Given the description of an element on the screen output the (x, y) to click on. 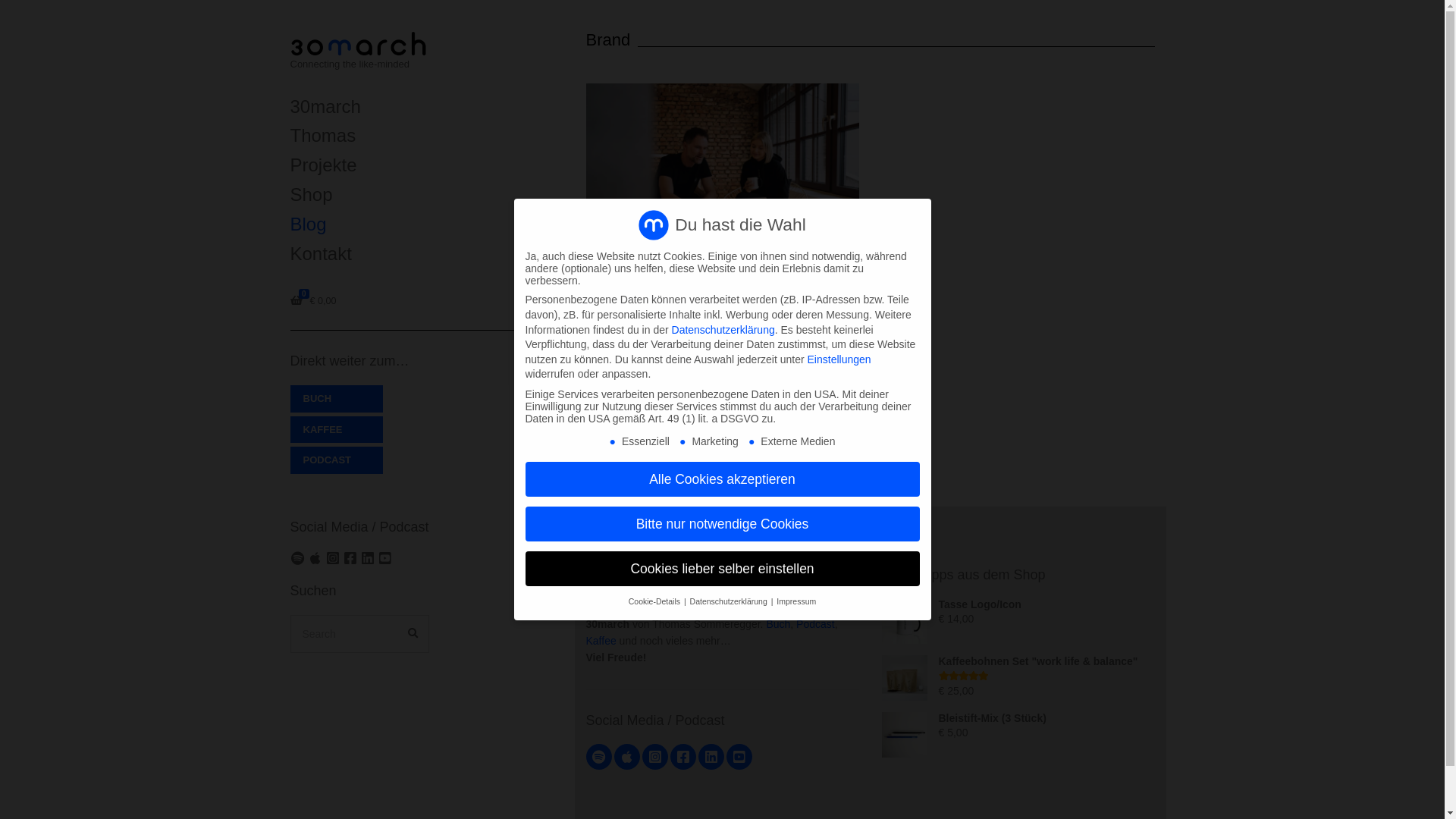
Cookie-Details Element type: text (655, 600)
spotify Element type: text (598, 756)
linkedin Element type: text (366, 557)
BUCH Element type: text (335, 398)
Cookies lieber selber einstellen Element type: text (721, 568)
Tasse Logo/Icon Element type: text (979, 604)
Thomas Element type: text (404, 135)
Alle Cookies akzeptieren Element type: text (721, 478)
Impressum Element type: text (795, 600)
KAFFEE Element type: text (335, 429)
Blog Element type: text (765, 563)
MEHR LESEN Element type: text (637, 435)
Kaffee Element type: text (600, 640)
facebook Element type: text (683, 756)
instagram Element type: text (331, 557)
30march Element type: text (404, 107)
Kaffeebohnen Set "work life & balance" Element type: text (1038, 661)
youtube Element type: text (739, 756)
Gestatten, 30march Element type: text (658, 295)
instagram Element type: text (654, 756)
SEARCH Element type: text (411, 633)
linkedin Element type: text (710, 756)
Spotify Element type: text (630, 563)
Bitte nur notwendige Cookies Element type: text (721, 523)
spotify Element type: text (296, 557)
Podcast Element type: text (815, 624)
Kontakt Element type: text (404, 254)
youtube Element type: text (384, 557)
Einstellungen Element type: text (839, 359)
PODCAST Element type: text (335, 459)
Blog Element type: text (404, 224)
facebook Element type: text (349, 557)
Buch Element type: text (777, 624)
Apple Podcasts Element type: text (701, 563)
apple podcasts Element type: text (627, 756)
Projekte Element type: text (404, 165)
Brand Element type: text (696, 316)
apple podcasts Element type: text (315, 557)
Shop Element type: text (404, 195)
